Given the description of an element on the screen output the (x, y) to click on. 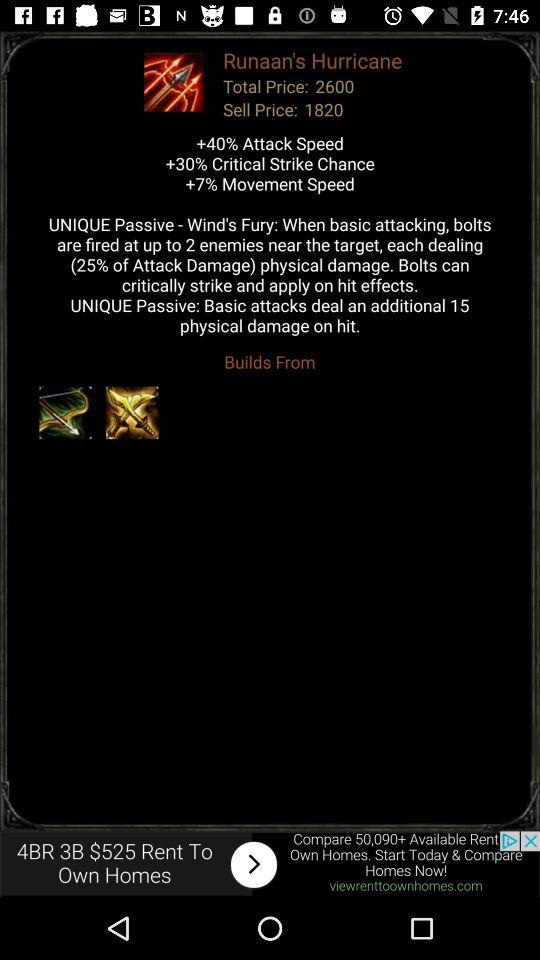
share (270, 864)
